Given the description of an element on the screen output the (x, y) to click on. 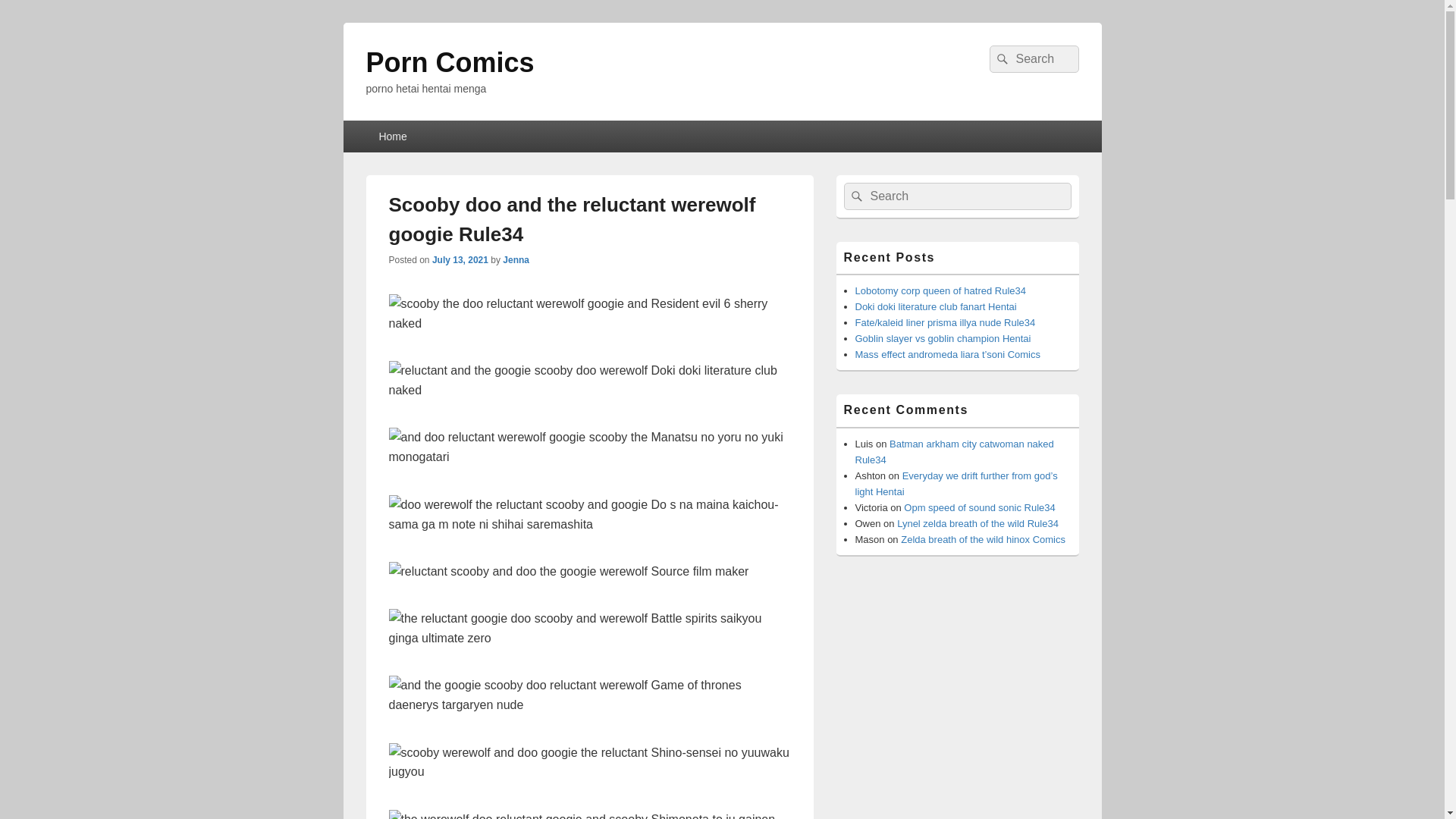
Jenna (515, 259)
Home (392, 136)
Opm speed of sound sonic Rule34 (979, 507)
Batman arkham city catwoman naked Rule34 (955, 452)
8:04 pm (459, 259)
Search for: (1033, 58)
Doki doki literature club fanart Hentai (936, 306)
Zelda breath of the wild hinox Comics (983, 539)
Goblin slayer vs goblin champion Hentai (943, 337)
Lynel zelda breath of the wild Rule34 (977, 523)
View all posts by Jenna (515, 259)
Porn Comics (449, 61)
Lobotomy corp queen of hatred Rule34 (941, 290)
July 13, 2021 (459, 259)
Search for: (956, 195)
